Given the description of an element on the screen output the (x, y) to click on. 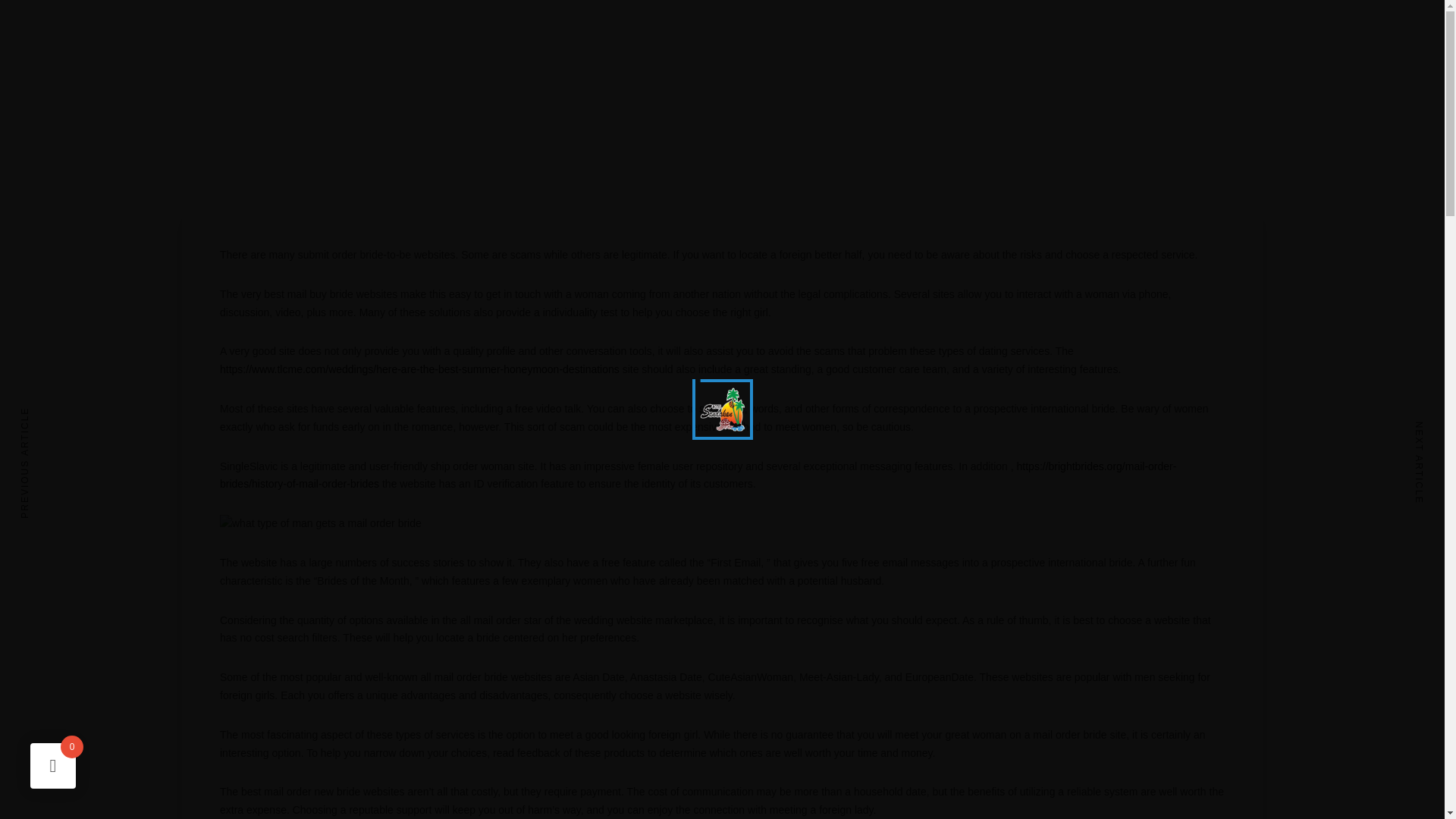
PREVIOUS ARTICLE (40, 462)
